Given the description of an element on the screen output the (x, y) to click on. 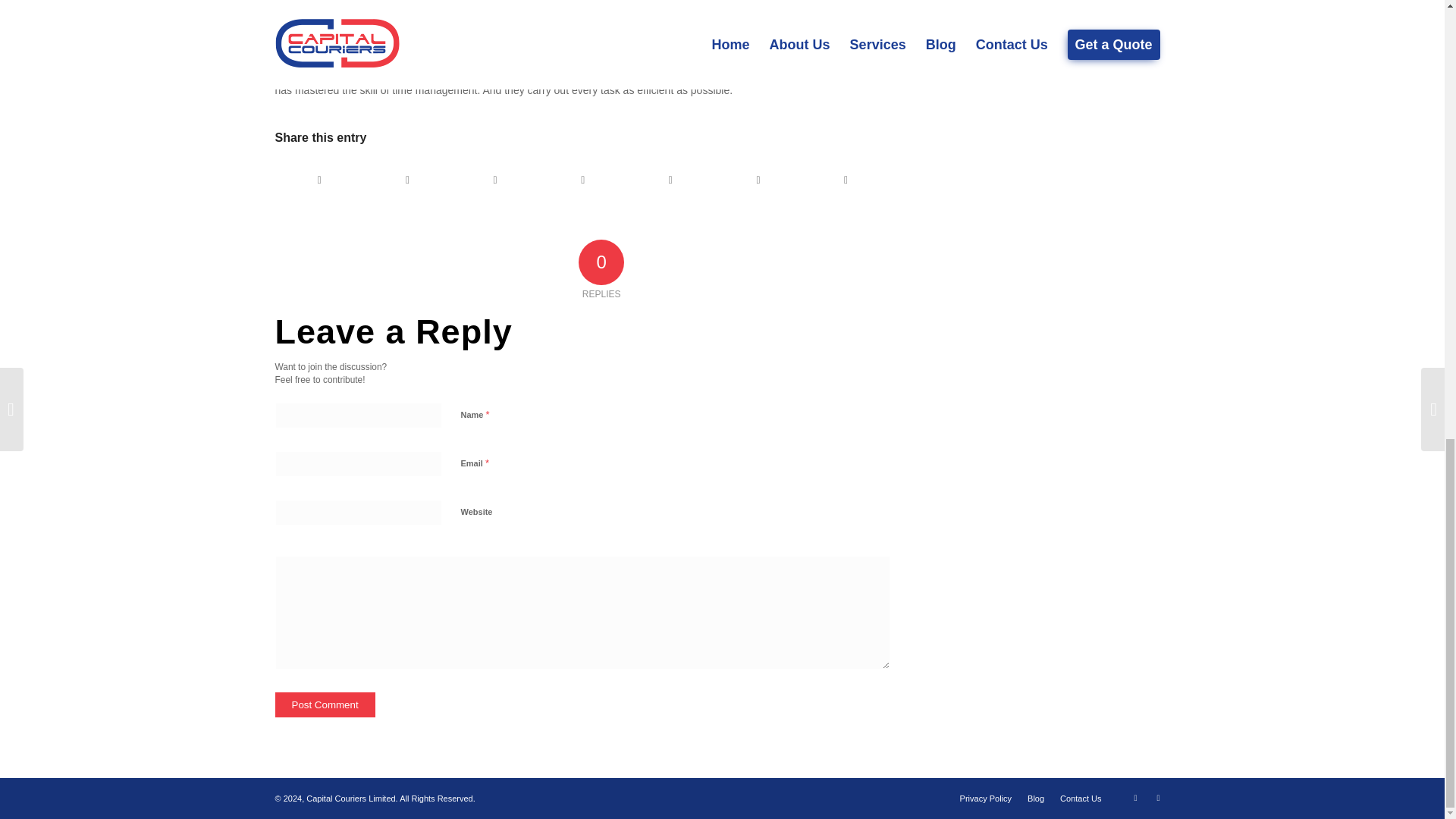
Facebook (1135, 797)
Post Comment (324, 704)
Twitter (1158, 797)
Post Comment (324, 704)
